Given the description of an element on the screen output the (x, y) to click on. 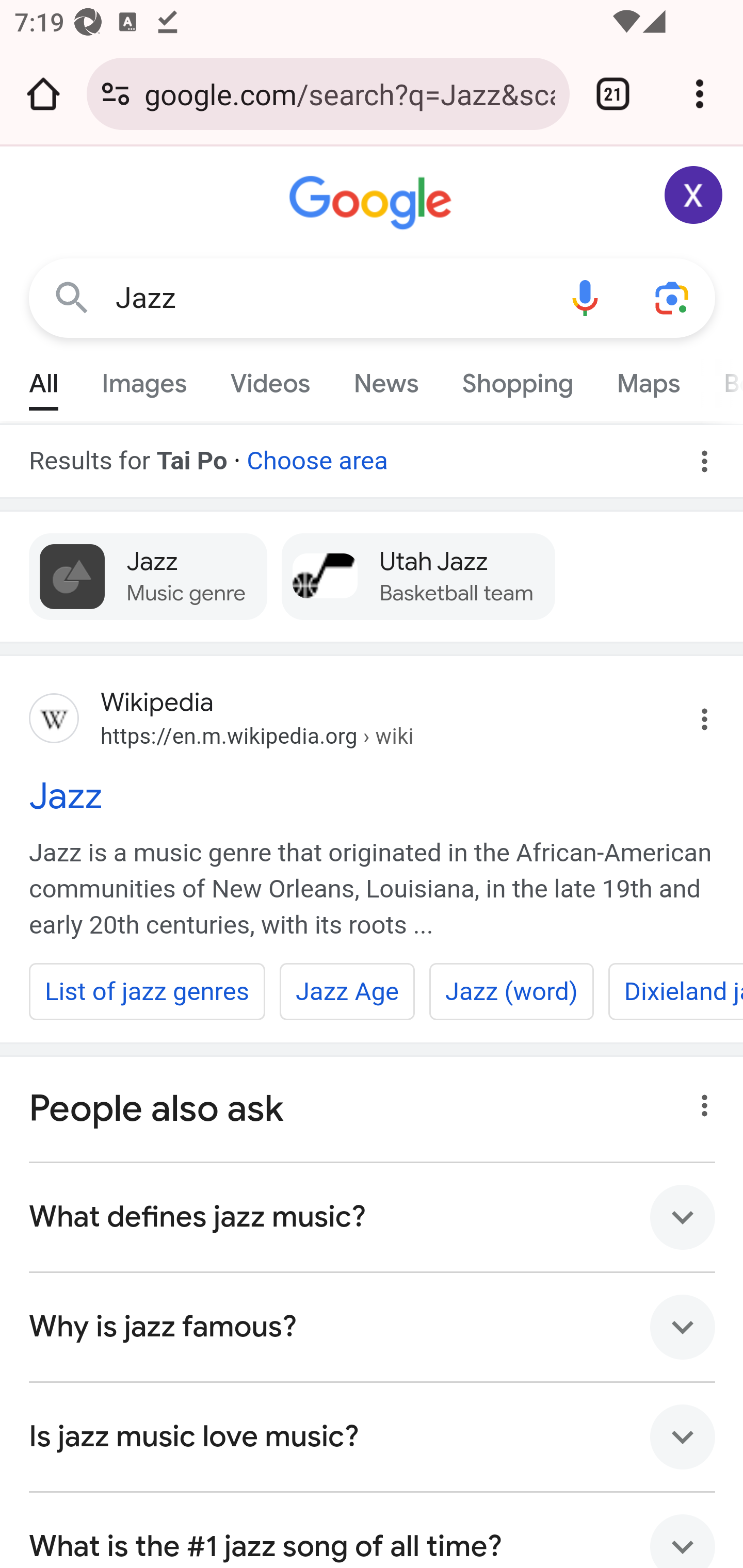
Open the home page (43, 93)
Connection is secure (115, 93)
Switch or close tabs (612, 93)
Customize and control Google Chrome (699, 93)
Google (372, 203)
Google Account: Xiaoran (zxrappiumtest@gmail.com) (694, 195)
Google Search (71, 296)
Search using your camera or photos (672, 296)
Jazz (328, 297)
Images (144, 378)
Videos (270, 378)
News (385, 378)
Shopping (516, 378)
Maps (647, 378)
Choose area (316, 453)
Jazz Music genre Jazz Music genre (148, 575)
Jazz (372, 795)
List of jazz genres (147, 991)
Jazz Age (346, 991)
Jazz (word) (510, 991)
Dixieland jazz (675, 991)
About this result (698, 1099)
What defines jazz music? (372, 1217)
Why is jazz famous? (372, 1327)
Is jazz music love music? (372, 1437)
What is the #1 jazz song of all time? (372, 1529)
